Given the description of an element on the screen output the (x, y) to click on. 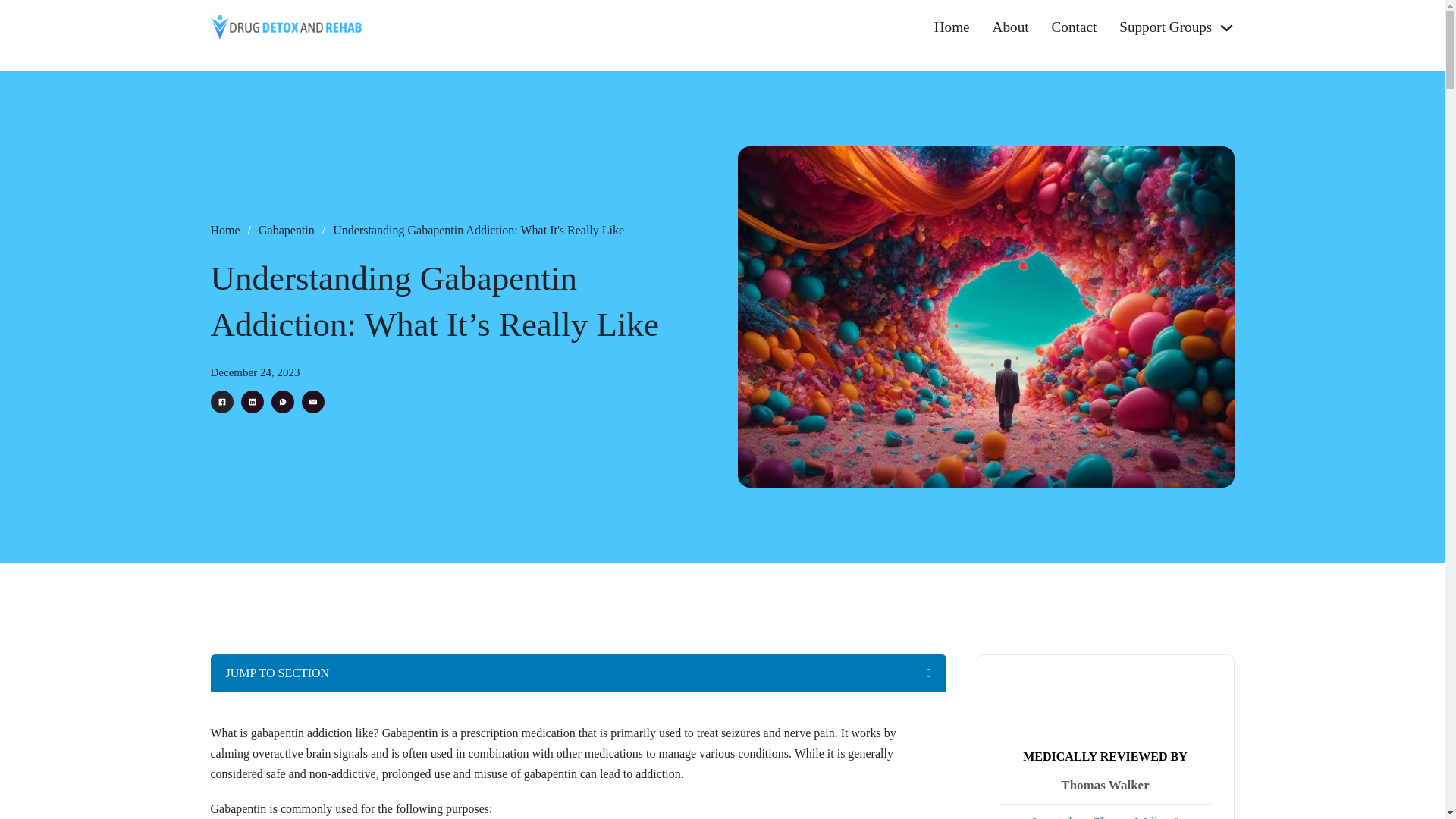
About (1010, 27)
Thomas Walker (1104, 785)
Home (225, 230)
Support Groups (1165, 27)
Home (951, 27)
MEDICALLY REVIEWED BY (1105, 756)
Gabapentin (286, 230)
Contact (1074, 27)
